Given the description of an element on the screen output the (x, y) to click on. 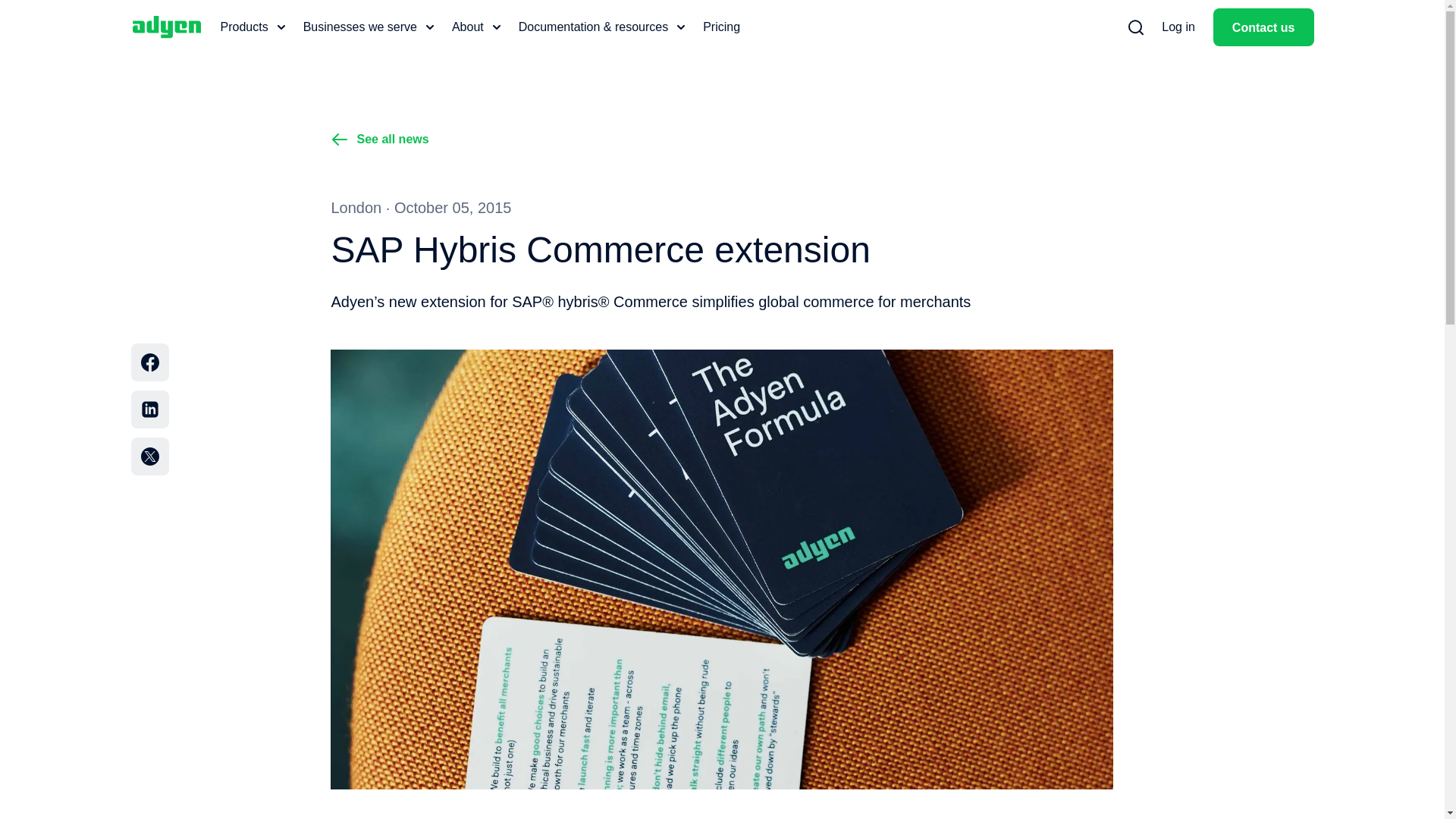
Contact us (1263, 26)
Businesses we serve (367, 27)
About (475, 27)
Products (251, 27)
See all news (379, 138)
